Given the description of an element on the screen output the (x, y) to click on. 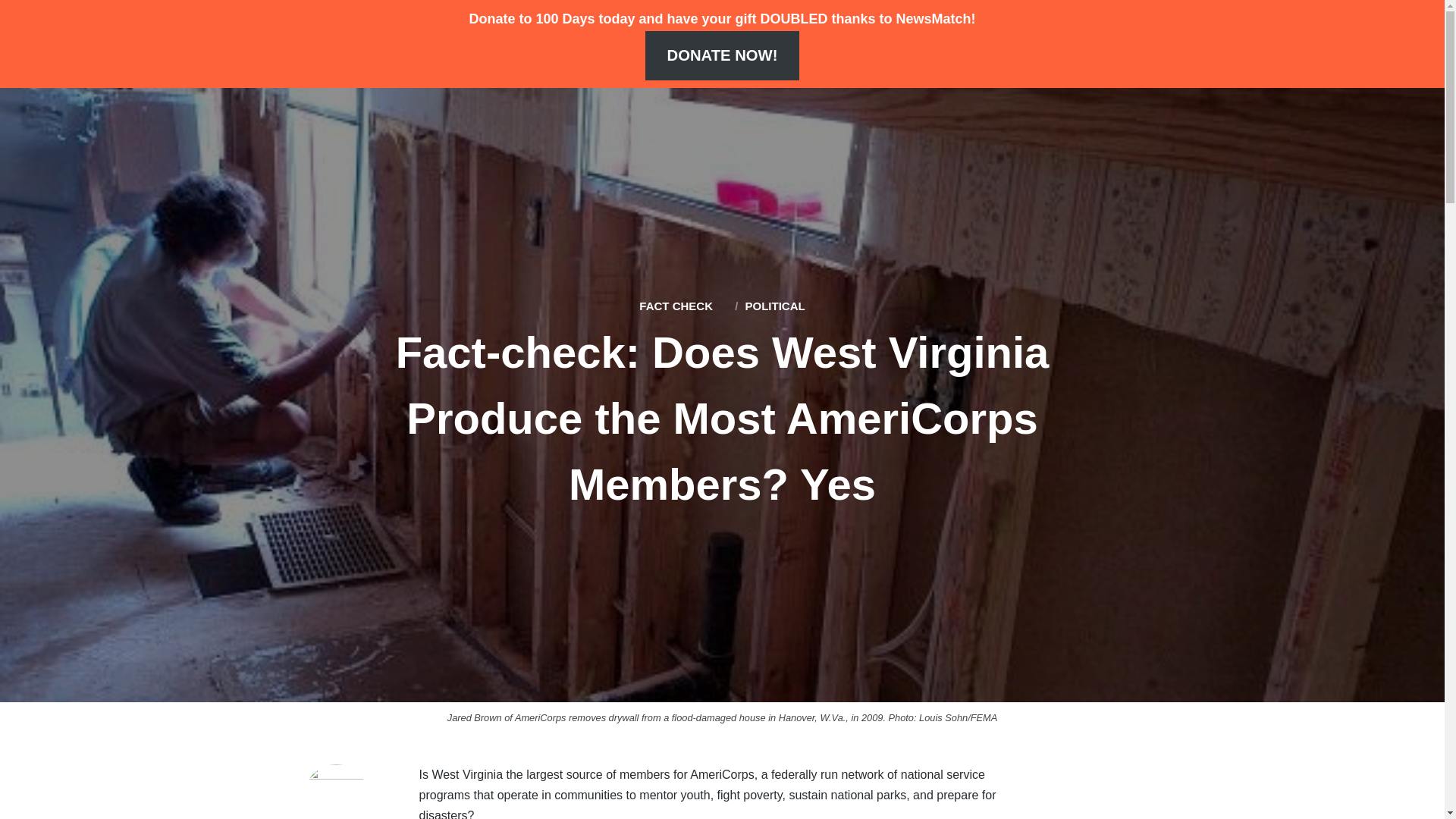
FACT CHECK (676, 305)
Lili Zecevic (334, 791)
PITCH US (619, 43)
DONATE NOW! (722, 55)
LATEST NEWS (255, 43)
DONATE (422, 43)
POLITICAL (774, 305)
LOG IN (1080, 43)
SUBSCRIBE (994, 43)
Posts by Lili Zecevic (334, 791)
NEWSLETTER (519, 43)
STEAL OUR STORIES (863, 43)
ABOUT (349, 43)
Search (1398, 42)
